Given the description of an element on the screen output the (x, y) to click on. 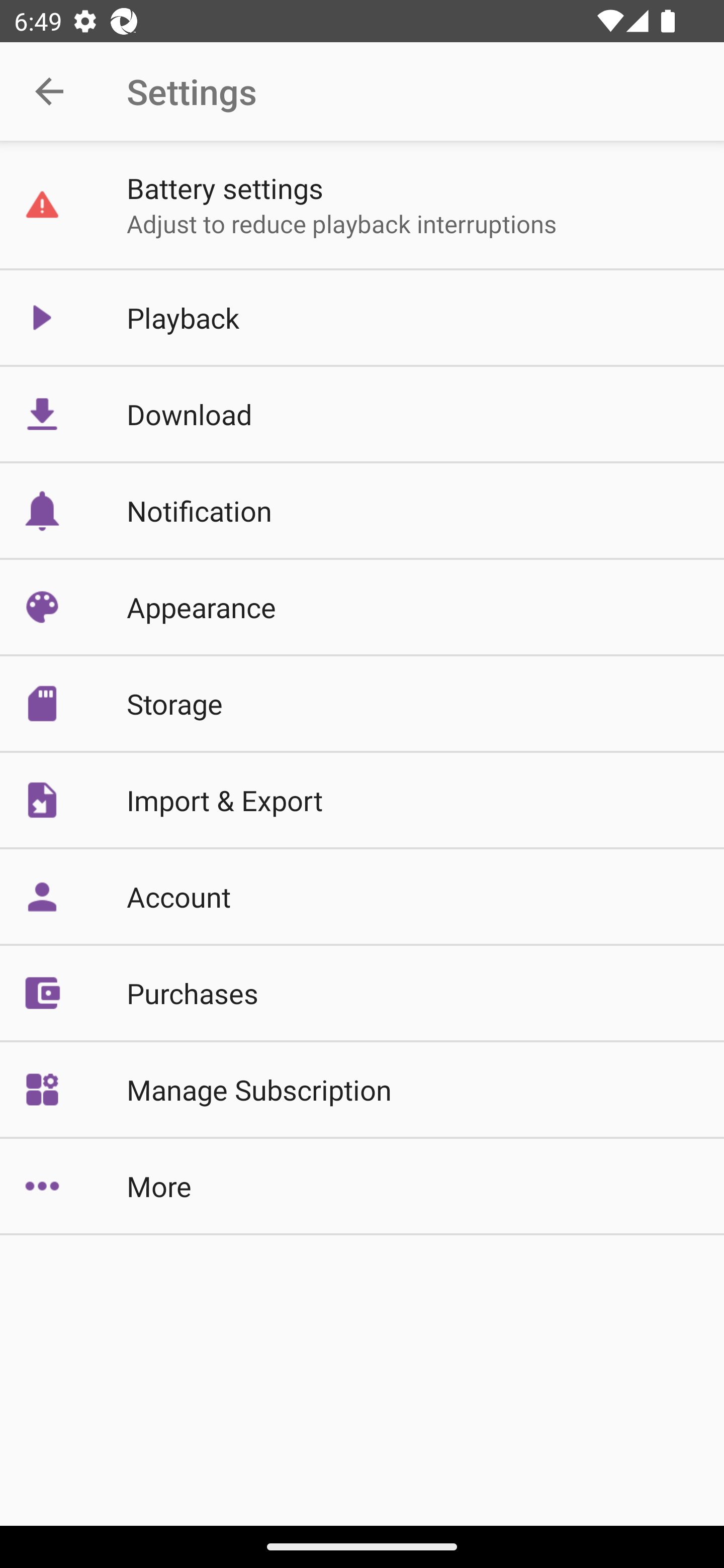
Navigate up (49, 91)
Playback (362, 317)
Download (362, 413)
Notification (362, 511)
Appearance (362, 606)
Storage (362, 703)
Import & Export (362, 799)
Account (362, 896)
Purchases (362, 992)
Manage Subscription (362, 1089)
More (362, 1186)
